Given the description of an element on the screen output the (x, y) to click on. 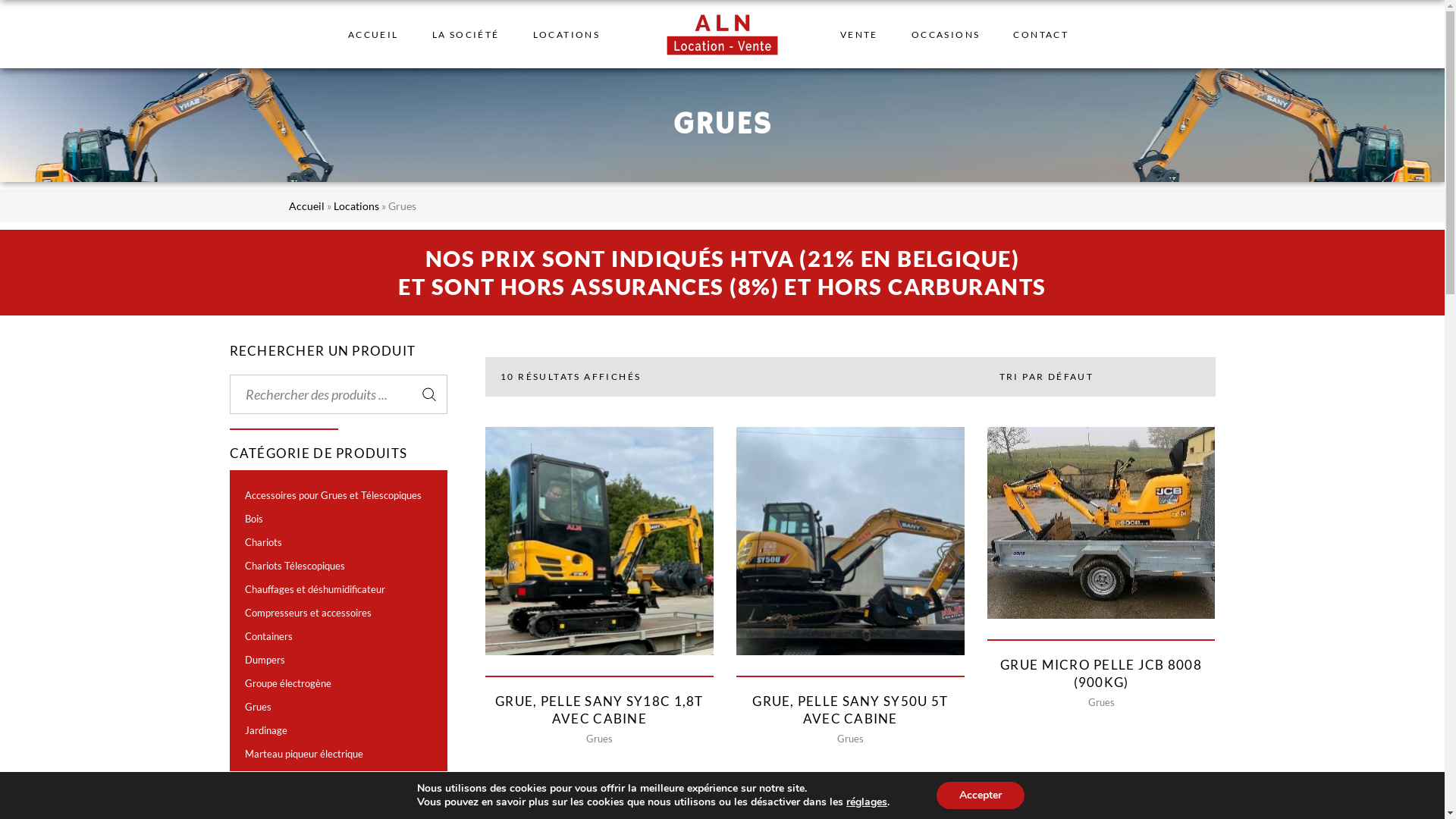
Accepter Element type: text (980, 795)
VENTE Element type: text (858, 34)
Grues Element type: text (599, 738)
Dumpers Element type: text (264, 659)
Search for: Element type: hover (338, 394)
GRUE, PELLE SANY SY18C 1,8T AVEC CABINE Element type: text (598, 709)
ACCUEIL Element type: text (373, 34)
Grues Element type: text (850, 738)
Compresseurs et accessoires Element type: text (307, 612)
GRUE, PELLE SANY SY50U 5T AVEC CABINE Element type: text (849, 709)
Grues Element type: text (1101, 702)
Bois Element type: text (253, 518)
Jardinage Element type: text (265, 730)
OCCASIONS Element type: text (945, 34)
Grues Element type: text (257, 706)
Containers Element type: text (267, 636)
Chariots Element type: text (262, 542)
CONTACT Element type: text (1040, 34)
Accueil Element type: text (306, 205)
GRUE MICRO PELLE JCB 8008 (900KG) Element type: text (1100, 673)
LOCATIONS Element type: text (566, 34)
Locations Element type: text (356, 205)
